Given the description of an element on the screen output the (x, y) to click on. 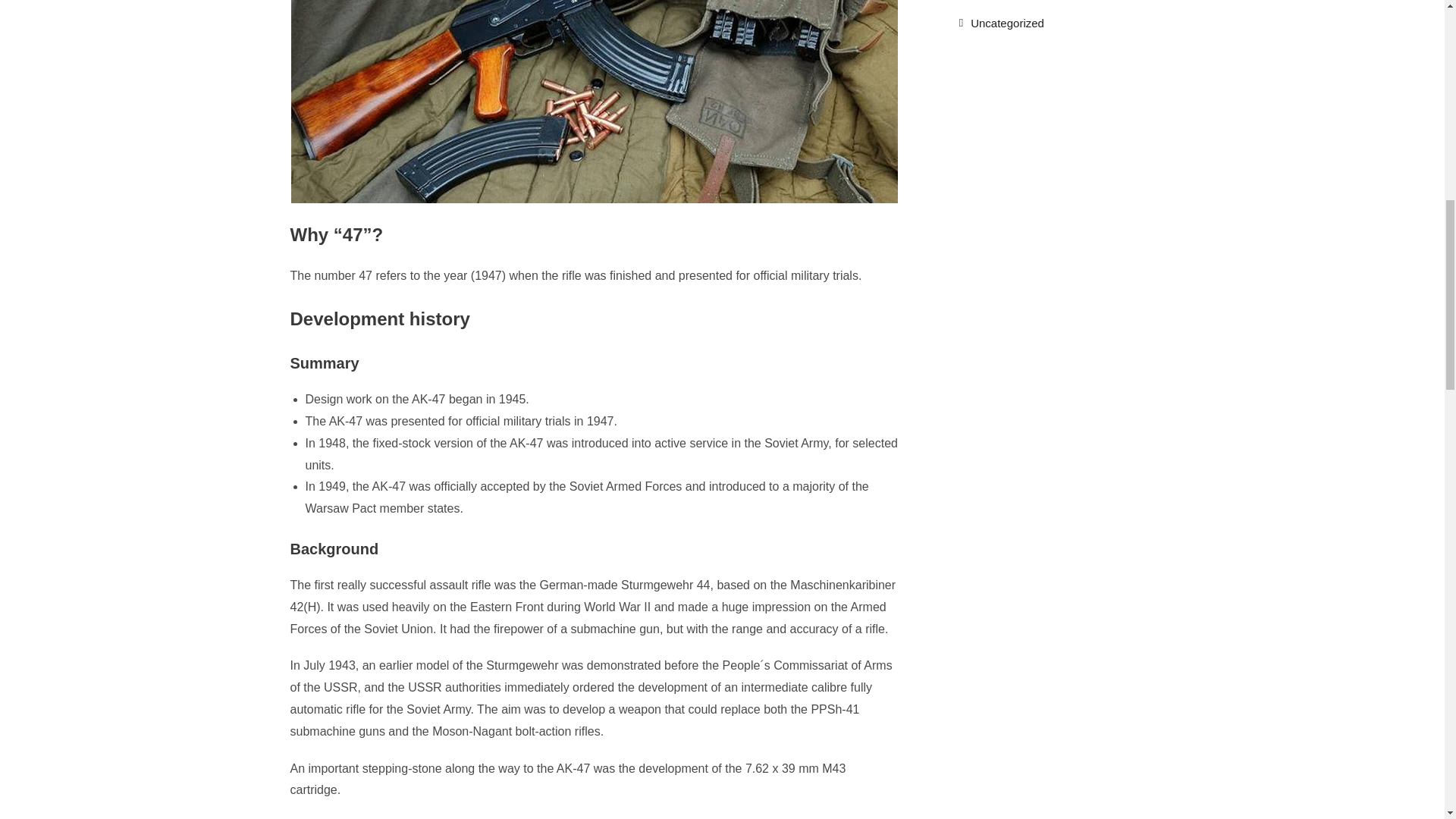
Uncategorized (1001, 22)
